Given the description of an element on the screen output the (x, y) to click on. 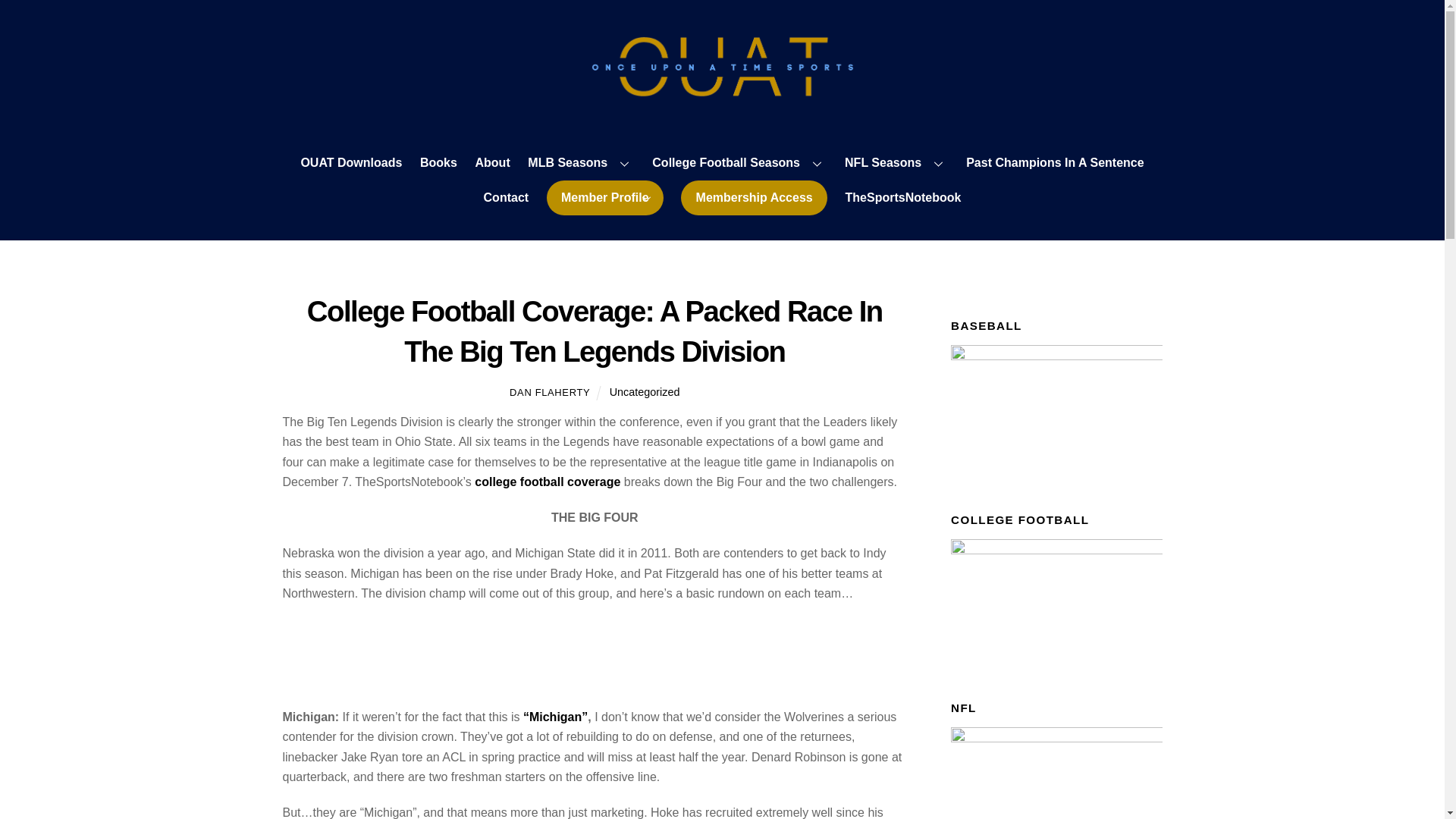
college football coverage (549, 481)
Books (438, 163)
MLB Seasons (581, 163)
About (491, 163)
OUAT Sports (722, 91)
OUAT Downloads (351, 163)
1997 Michigan football (555, 716)
